Given the description of an element on the screen output the (x, y) to click on. 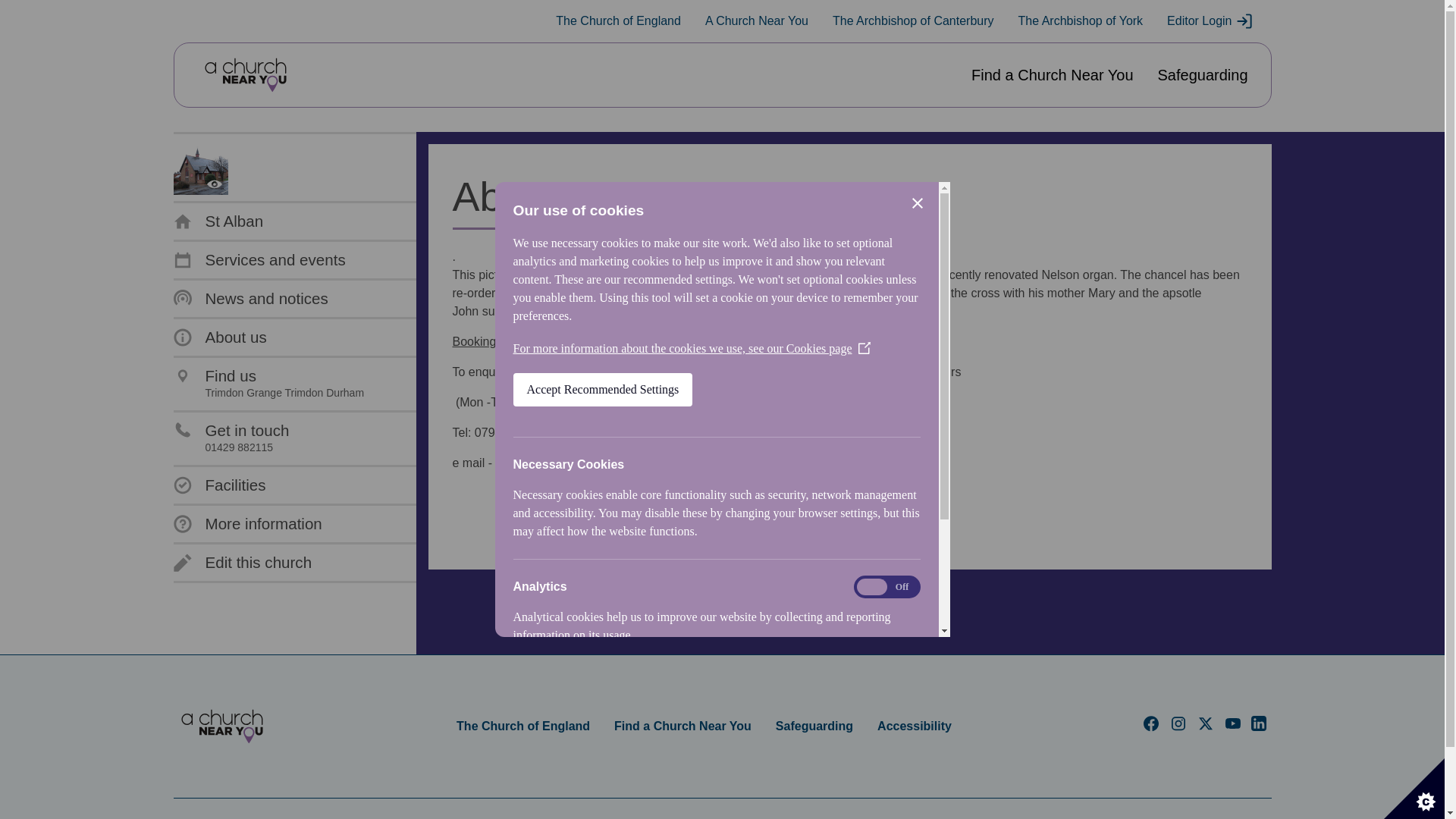
Services and events (259, 259)
St Alban (268, 383)
ACNY home (218, 221)
The Archbishop of York (245, 75)
on (1079, 21)
A Church Near You (913, 21)
Safeguarding (756, 21)
ACNY home (1202, 75)
Edit this church (221, 726)
Editor Login (242, 562)
Facilities (1209, 21)
